Given the description of an element on the screen output the (x, y) to click on. 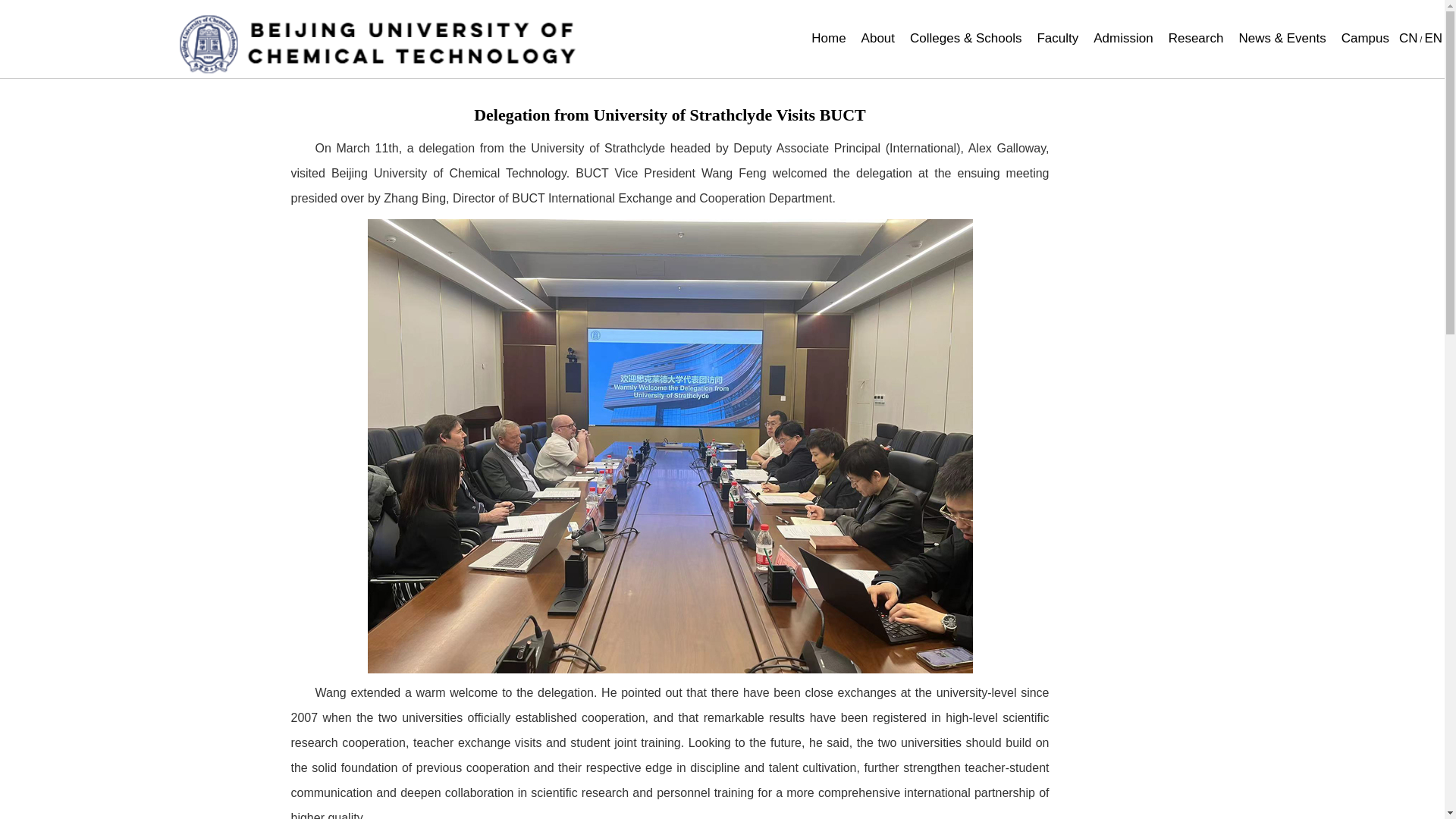
Home (827, 38)
Research (1196, 38)
Faculty (1057, 38)
Admission (1123, 38)
About (878, 38)
